Given the description of an element on the screen output the (x, y) to click on. 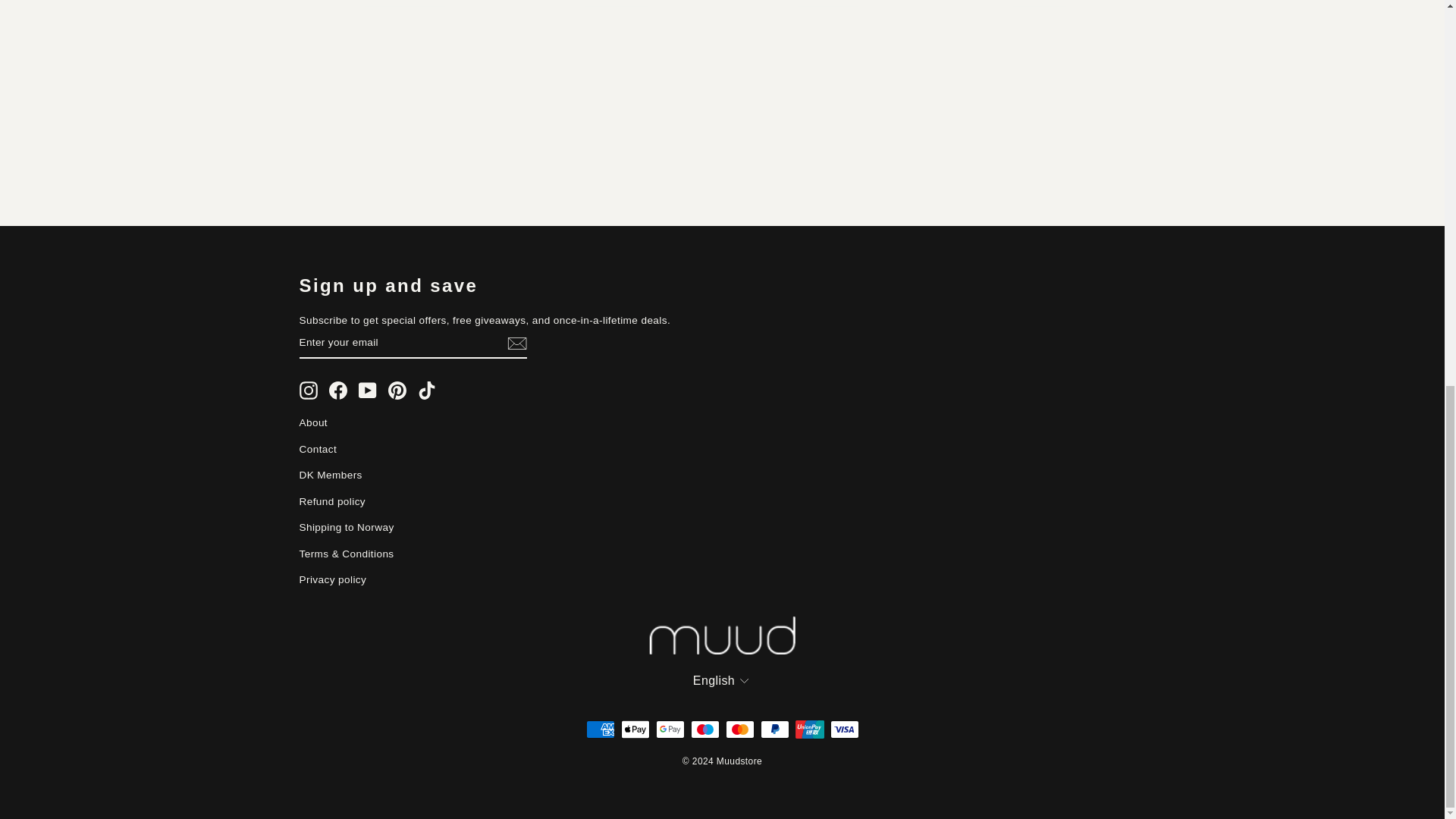
Apple Pay (634, 729)
Muudstore on Instagram (307, 390)
Union Pay (809, 729)
Google Pay (669, 729)
Maestro (704, 729)
Mastercard (739, 729)
Muudstore on YouTube (366, 390)
Muudstore on Facebook (338, 390)
Visa (844, 729)
American Express (599, 729)
